Given the description of an element on the screen output the (x, y) to click on. 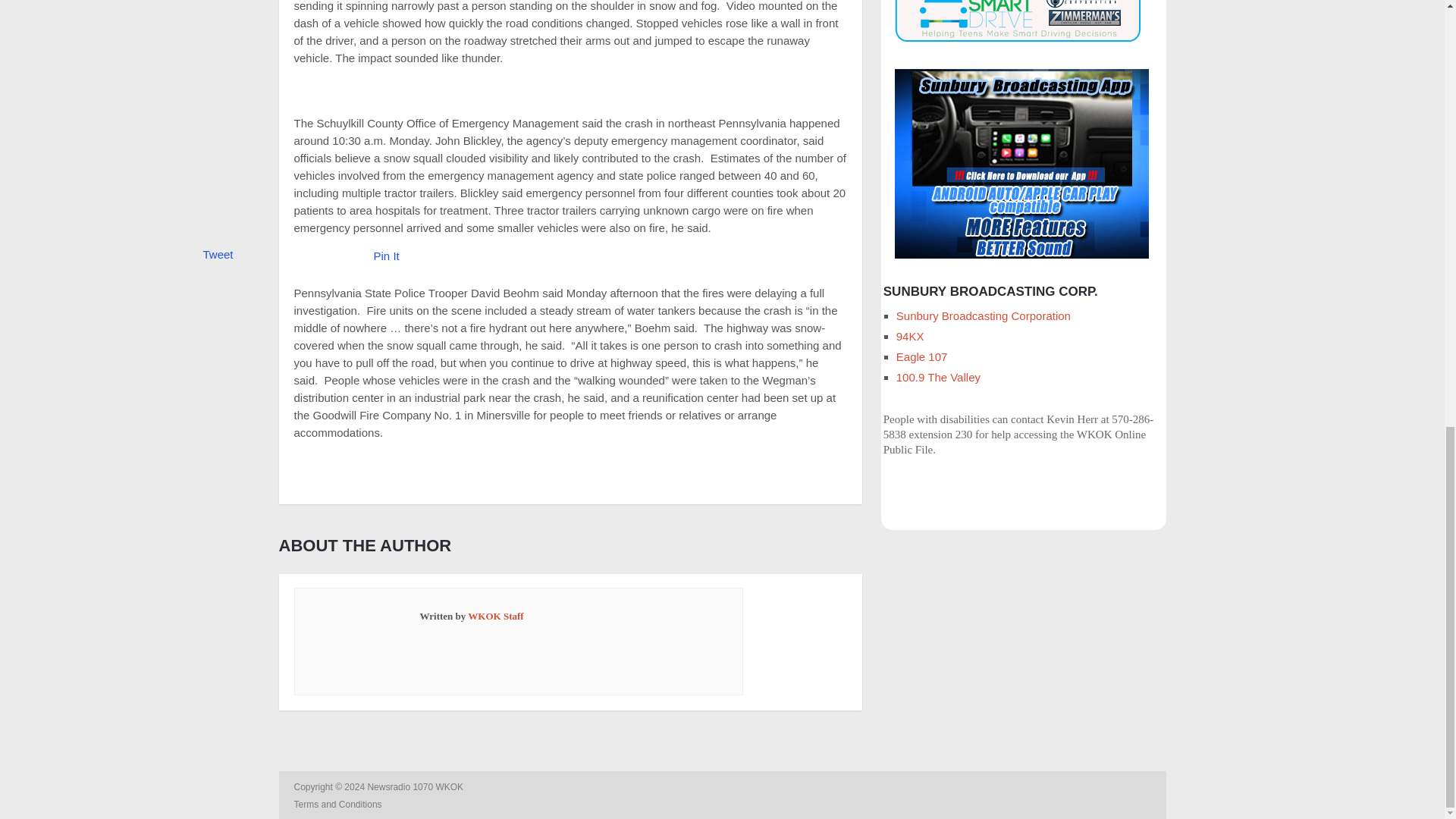
Posts by WKOK Staff (494, 615)
Newsradio 1070 WKOK (415, 787)
